Given the description of an element on the screen output the (x, y) to click on. 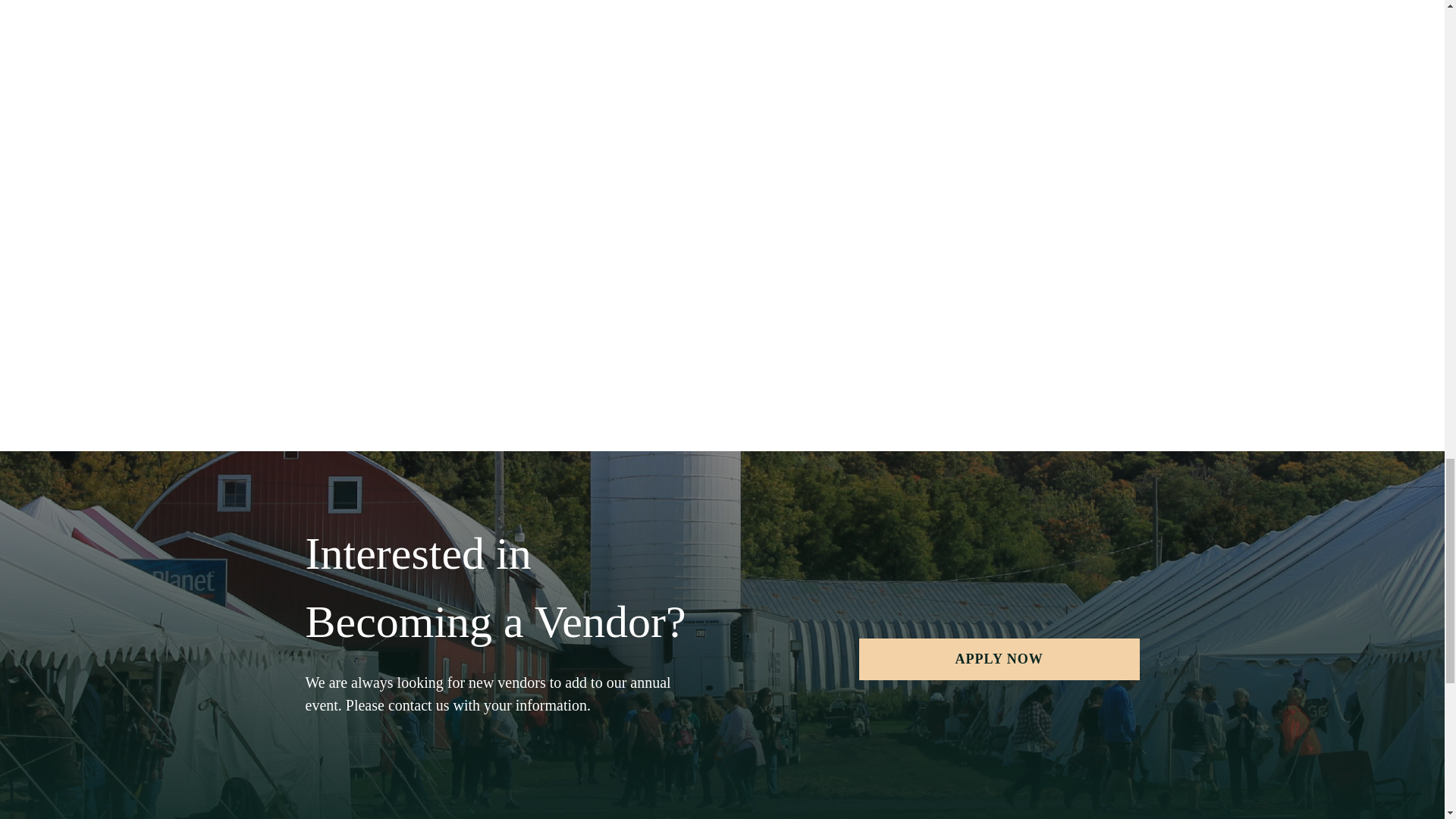
APPLY NOW (999, 659)
